Given the description of an element on the screen output the (x, y) to click on. 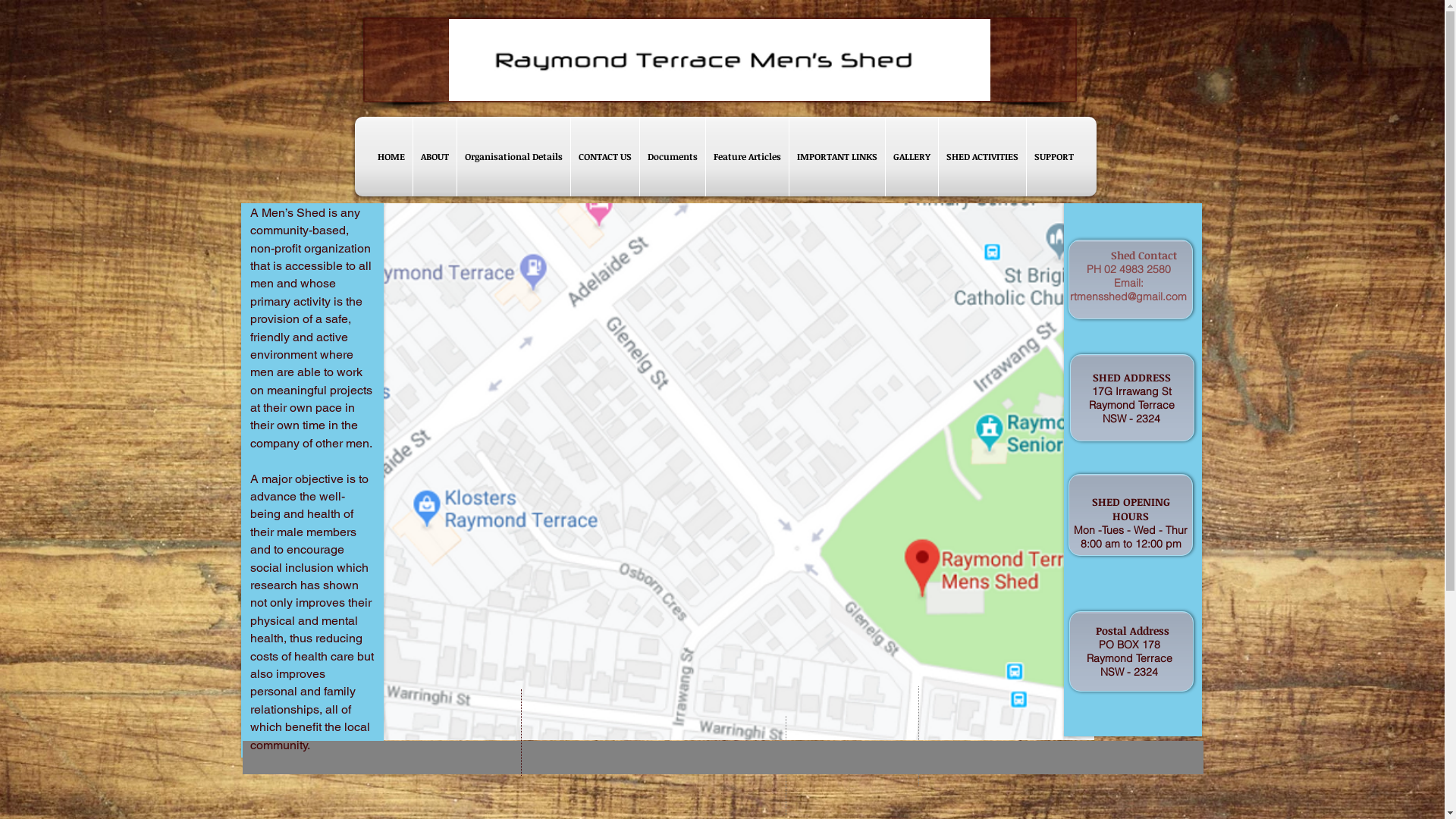
ABOUT Element type: text (433, 156)
title.gif Element type: hover (719, 59)
IMPORTANT LINKS Element type: text (836, 156)
rtmensshed@gmail.com Element type: text (1128, 296)
Documents Element type: text (672, 156)
CONTACT US Element type: text (604, 156)
Feature Articles Element type: text (746, 156)
HOME Element type: text (391, 156)
SHED ACTIVITIES Element type: text (982, 156)
SUPPORT Element type: text (1053, 156)
Organisational Details Element type: text (512, 156)
GALLERY Element type: text (911, 156)
